Given the description of an element on the screen output the (x, y) to click on. 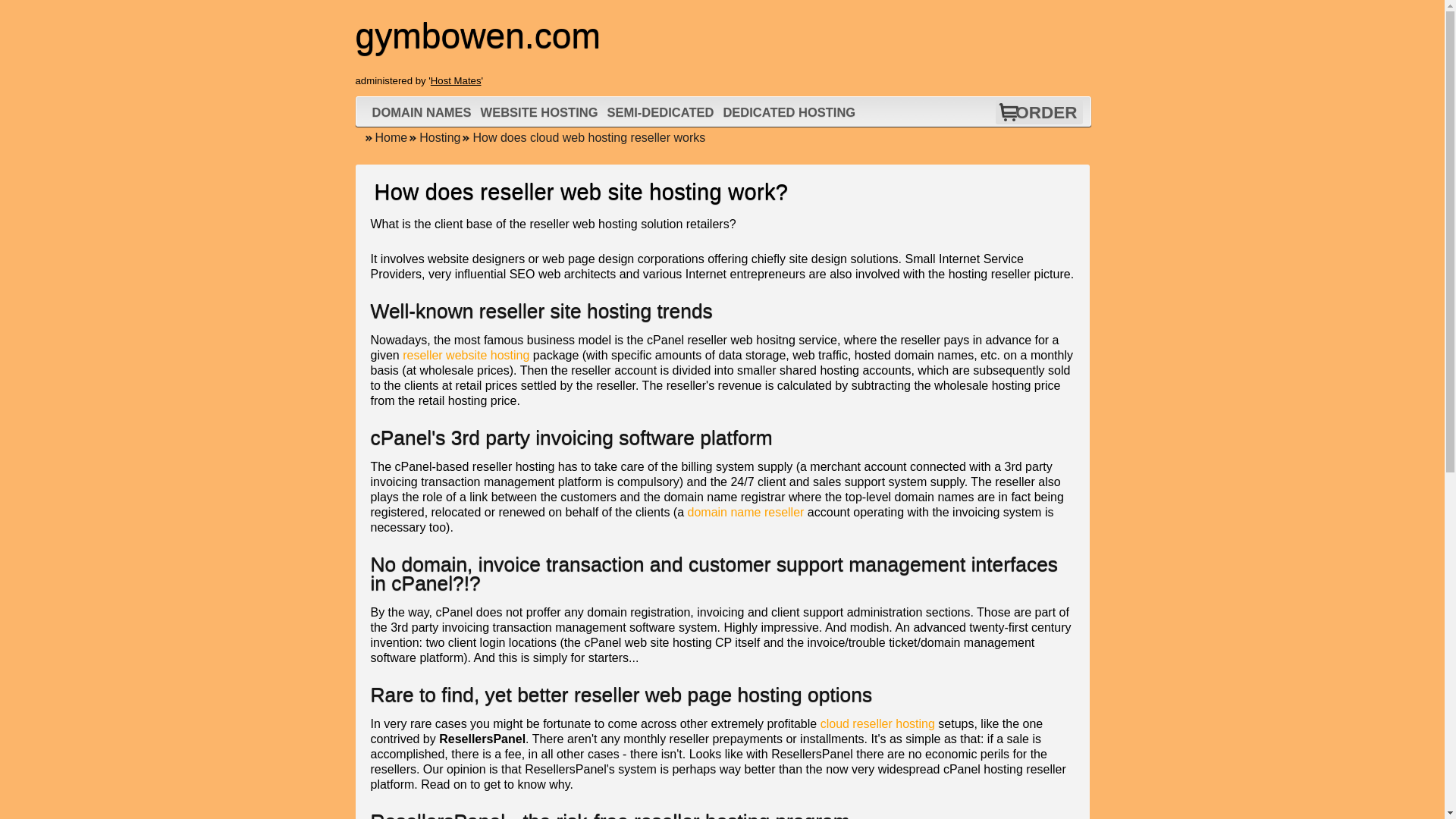
DEDICATED HOSTING (789, 112)
Home (384, 137)
domain name reseller (746, 512)
Hosting (433, 137)
SEMI-DEDICATED (660, 112)
reseller website hosting (466, 354)
DOMAIN NAMES (422, 112)
Host Mates (455, 80)
cloud reseller hosting (877, 723)
ORDER (1045, 112)
WEBSITE HOSTING (539, 112)
